Given the description of an element on the screen output the (x, y) to click on. 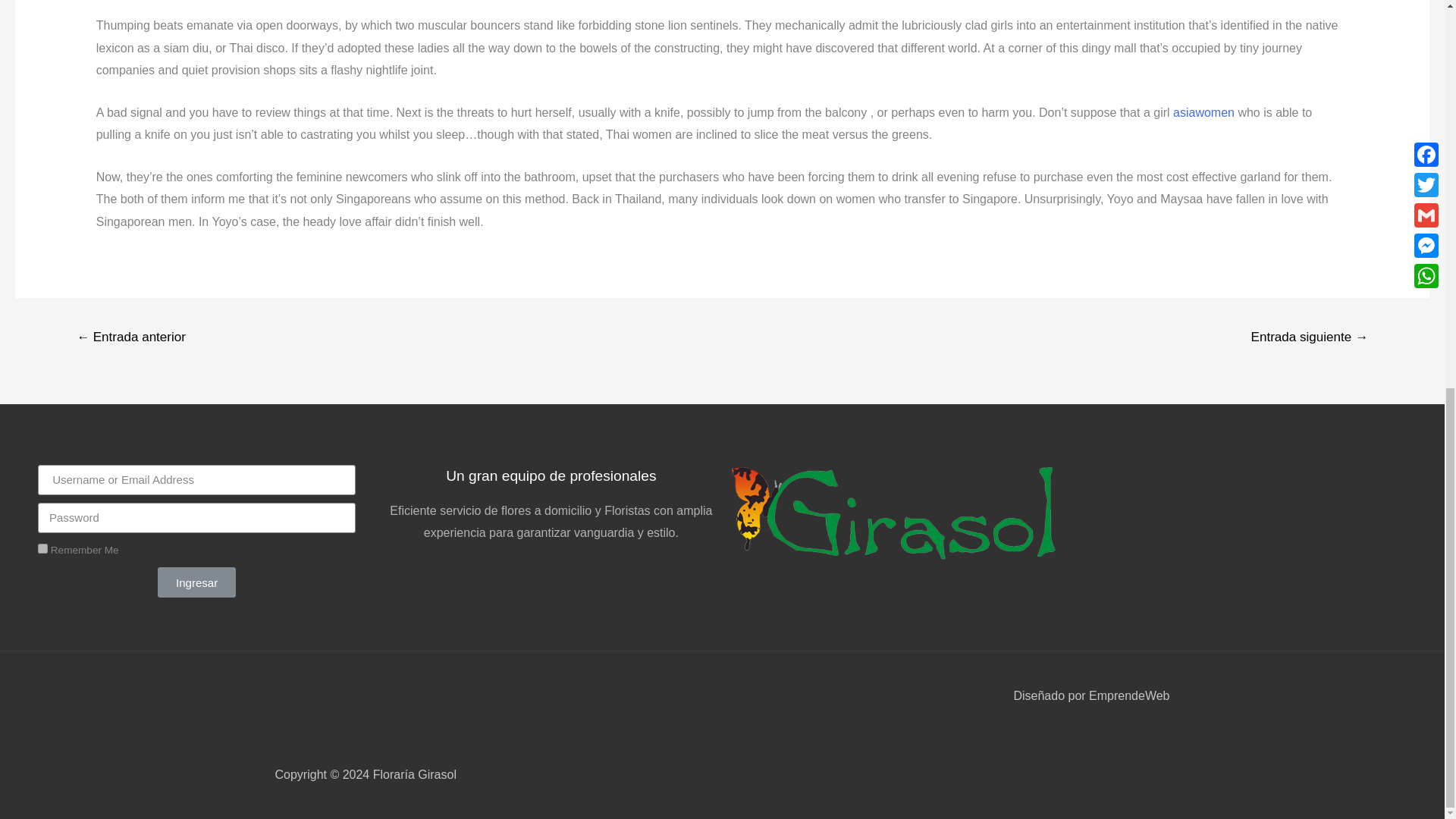
asiawomen (1203, 112)
CBD oil reviews (574, 717)
forever (42, 548)
Ingresar (196, 582)
